Given the description of an element on the screen output the (x, y) to click on. 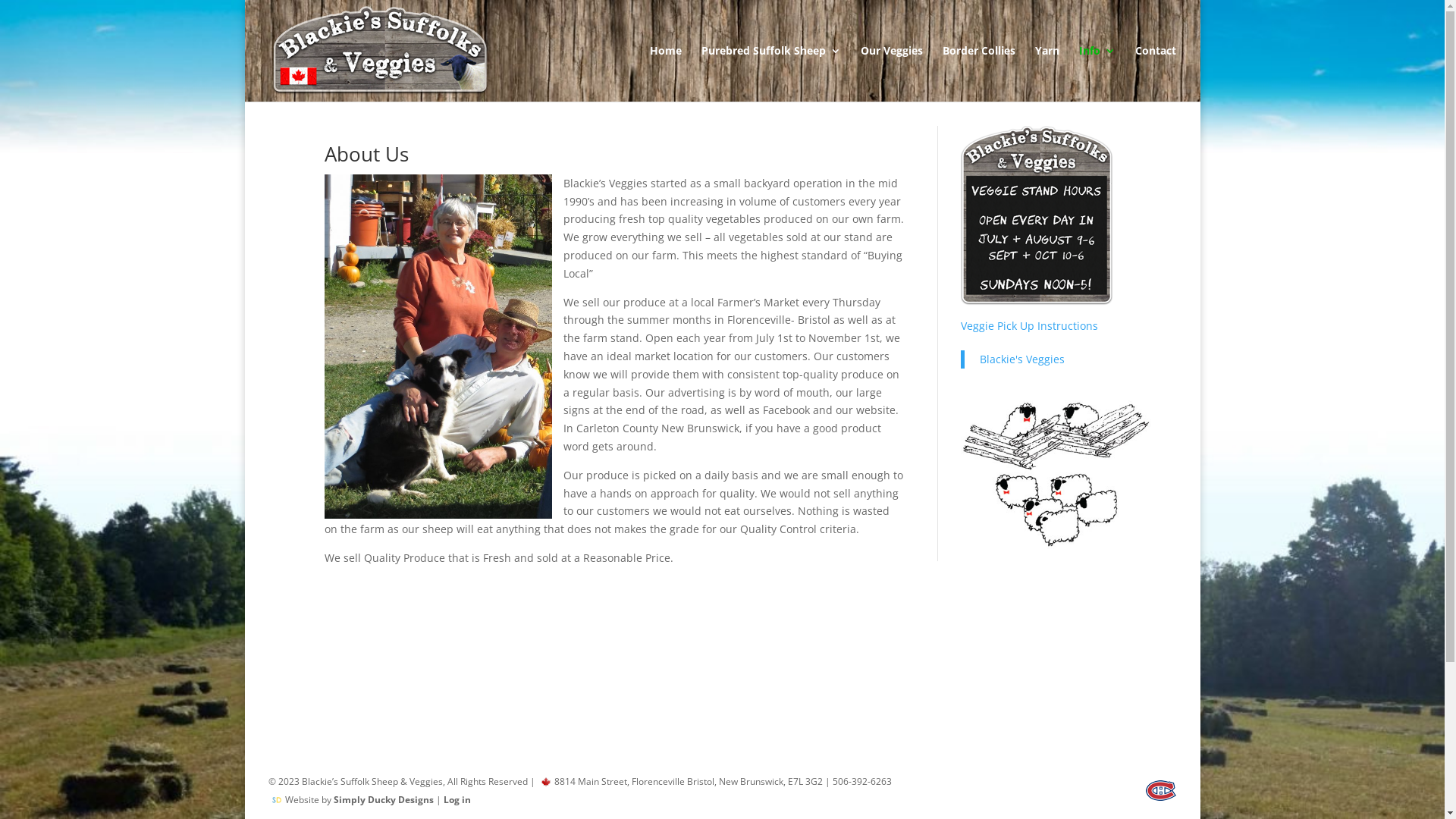
Simply Ducky Designs Element type: text (383, 799)
Proudly Canadian Element type: hover (545, 781)
Home Element type: text (665, 73)
Go Habs Go! Element type: hover (1160, 790)
The Whole Family Element type: hover (1056, 473)
Contact Element type: text (1155, 73)
Veggie Stand Hours Element type: hover (1036, 218)
Blackie's Veggies Element type: text (1021, 358)
Yarn Element type: text (1047, 73)
Info Element type: text (1097, 73)
Simply Ducky Designs Element type: hover (276, 799)
Purebred Suffolk Sheep Element type: text (770, 73)
Veggie Pick Up Instructions Element type: text (1029, 325)
Border Collies Element type: text (978, 73)
Our Veggies Element type: text (891, 73)
Log in Element type: text (456, 799)
